Given the description of an element on the screen output the (x, y) to click on. 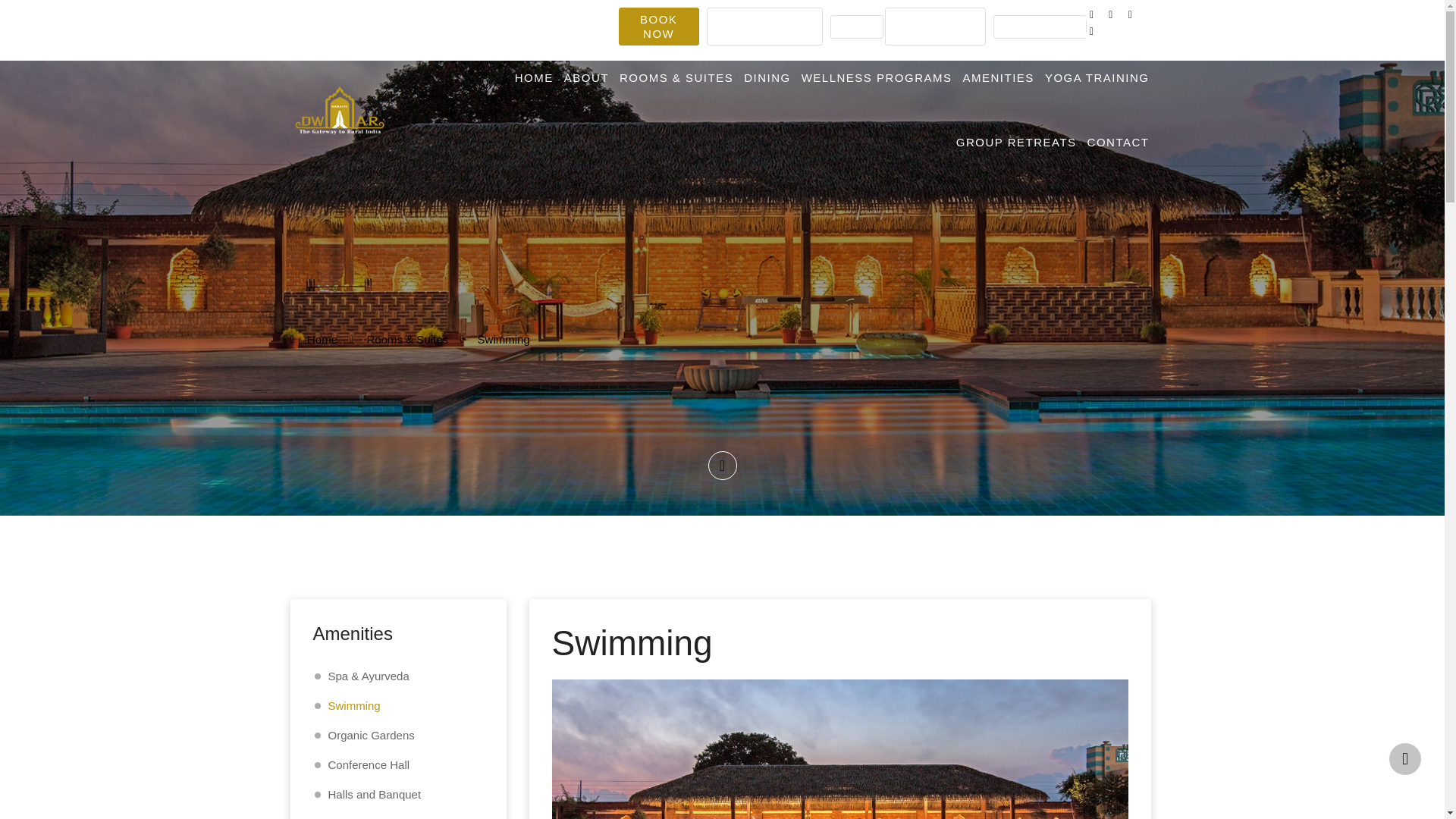
SPECIAL OFFERS (764, 26)
DINING (767, 77)
THINGS TO DO (935, 26)
WORKSHOP (1039, 26)
BLOG (856, 26)
WELLNESS PROGRAMS (877, 77)
BOOK NOW (658, 26)
